Given the description of an element on the screen output the (x, y) to click on. 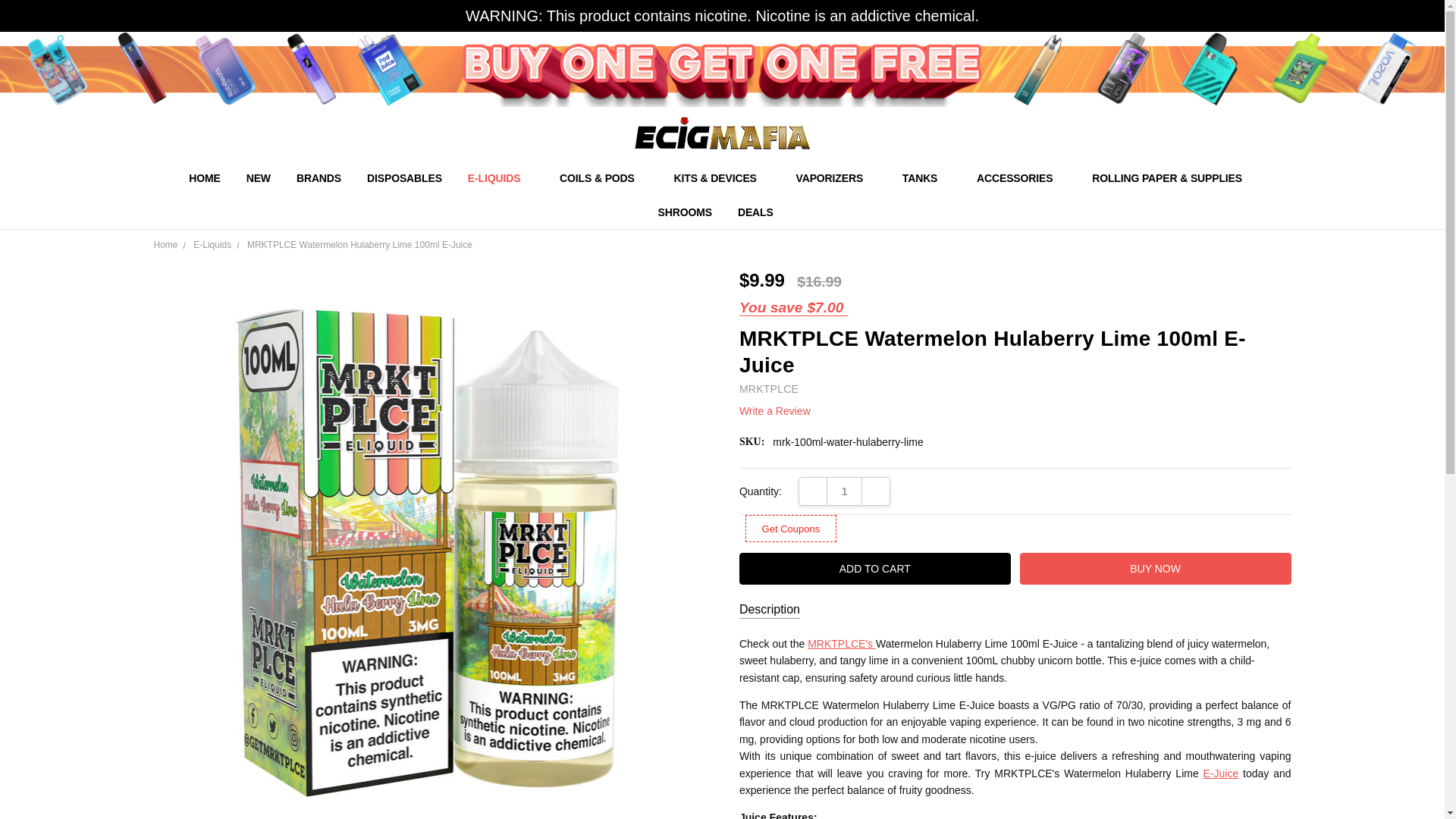
Buy Now (1155, 568)
NEW (257, 177)
Add to Cart (874, 568)
E-LIQUIDS (500, 177)
1 (844, 491)
ECigMafia (721, 134)
DISPOSABLES (403, 177)
HOME (204, 177)
Show All (743, 178)
BRANDS (318, 177)
